Given the description of an element on the screen output the (x, y) to click on. 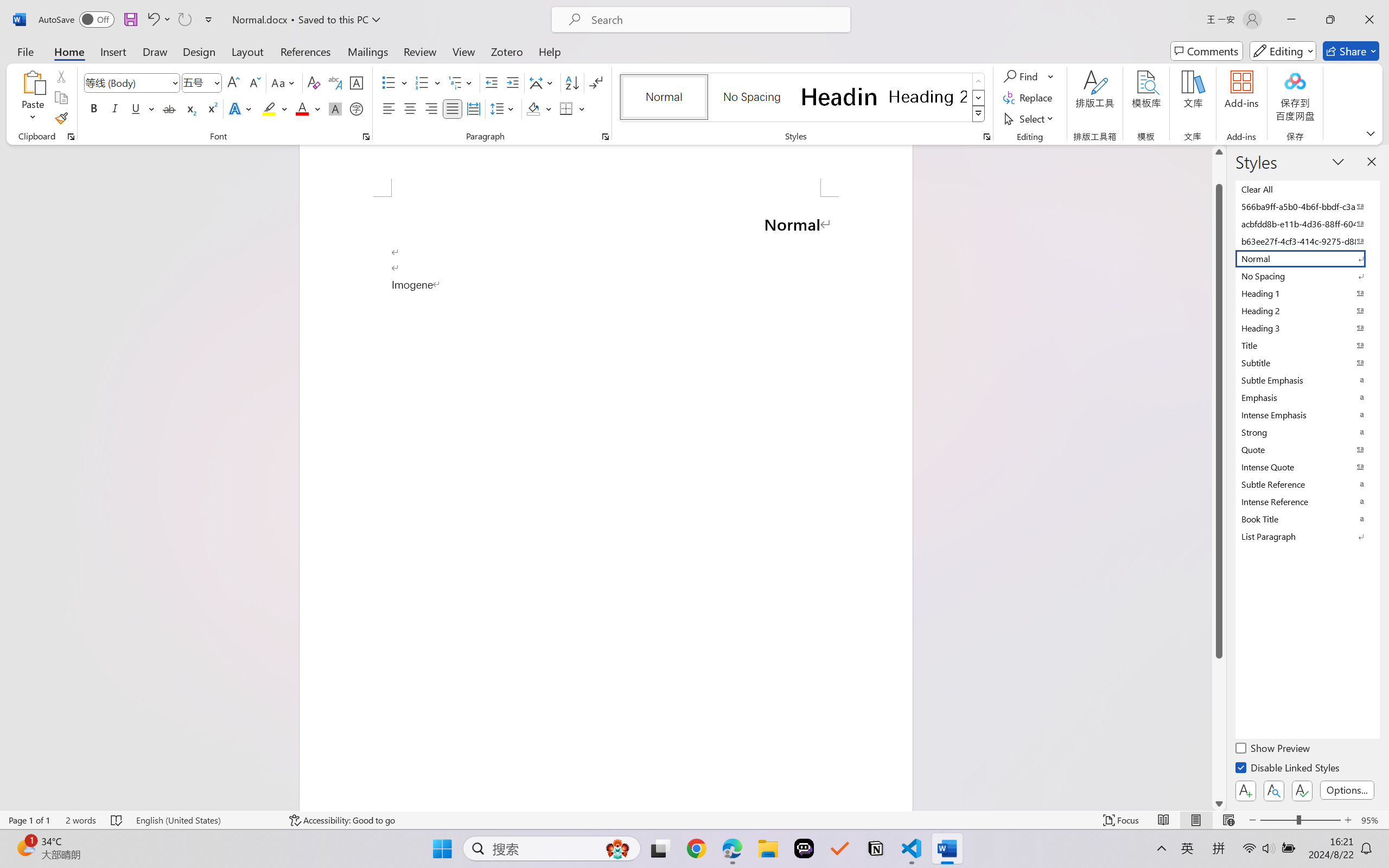
Distributed (473, 108)
Increase Indent (512, 82)
Character Shading (334, 108)
Format Painter (60, 118)
Strikethrough (169, 108)
b63ee27f-4cf3-414c-9275-d88e3f90795e (1306, 240)
